Given the description of an element on the screen output the (x, y) to click on. 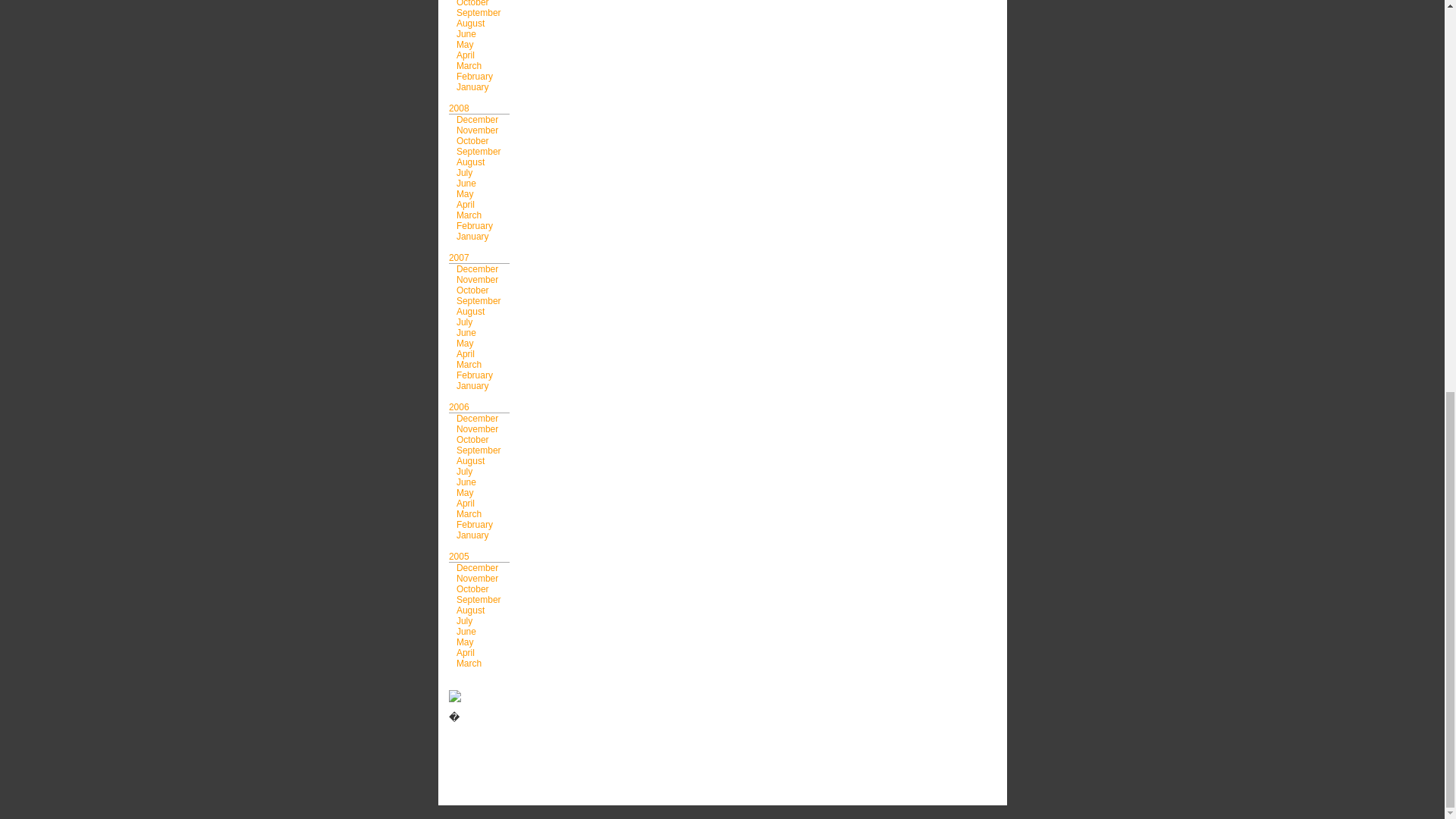
October (473, 3)
February (475, 76)
September (478, 12)
April (465, 54)
May (465, 44)
August (470, 23)
March (469, 65)
June (466, 33)
January (473, 86)
